Given the description of an element on the screen output the (x, y) to click on. 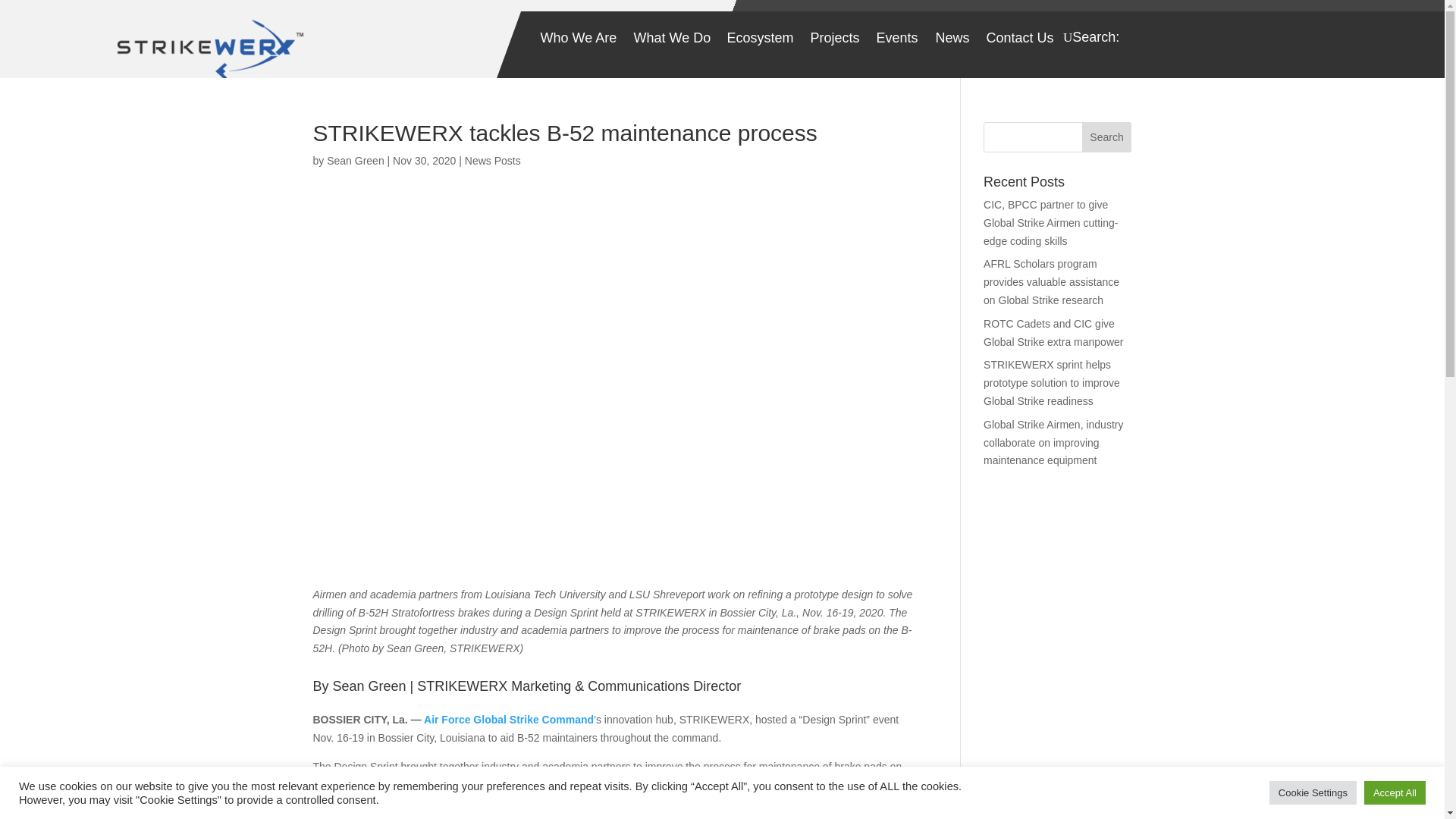
Sean Green (355, 160)
Barksdale Air Force Base (613, 812)
Who We Are (577, 41)
Contact Us (1018, 41)
News (951, 41)
Search (1106, 137)
B-52H Stratofortress (381, 784)
Logo TM 2 (213, 46)
What We Do (671, 41)
